Given the description of an element on the screen output the (x, y) to click on. 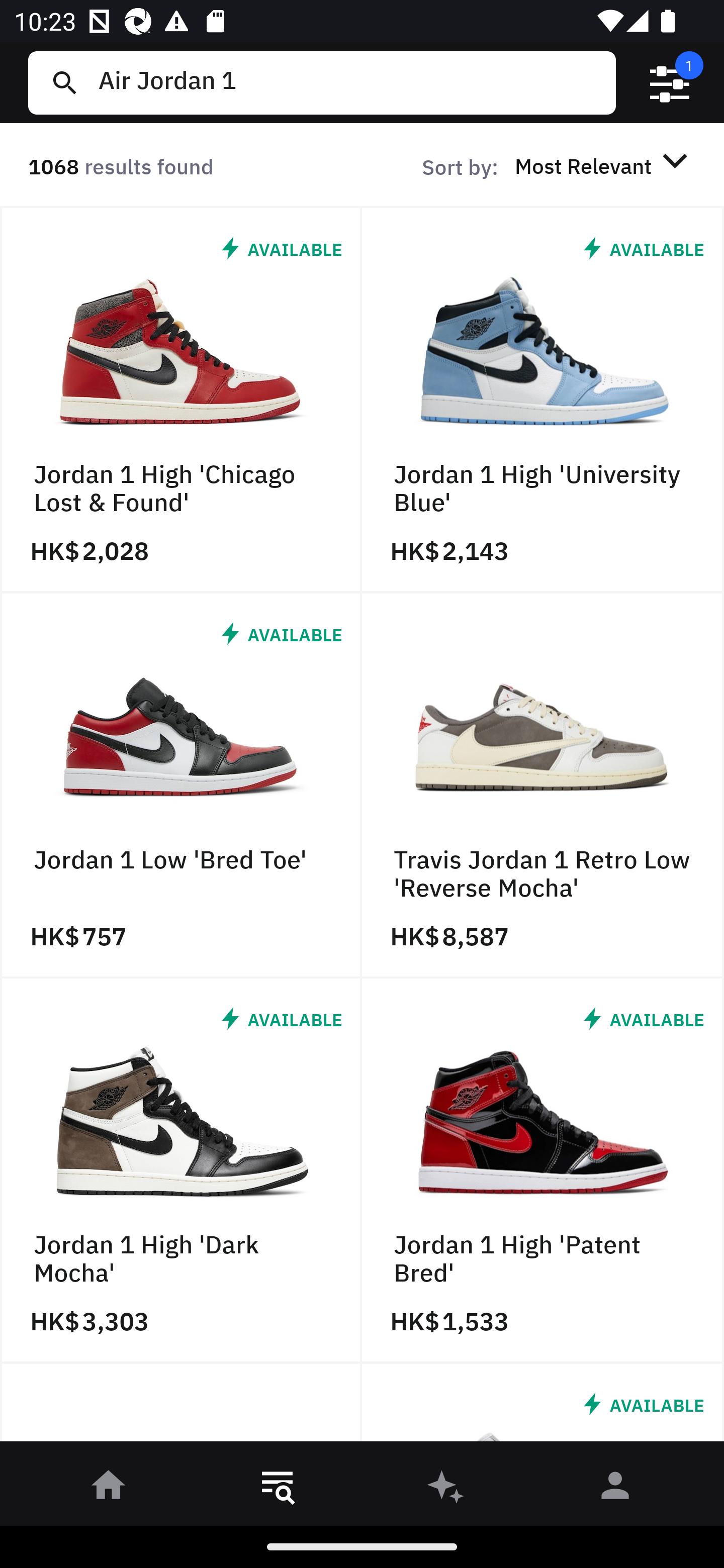
Air Jordan 1 (349, 82)
 (669, 82)
Most Relevant  (604, 165)
 AVAILABLE Jordan 1 Low 'Bred Toe' HK$ 757 (181, 785)
 AVAILABLE Jordan 1 High 'Dark Mocha' HK$ 3,303 (181, 1171)
 AVAILABLE Jordan 1 High 'Patent Bred' HK$ 1,533 (543, 1171)
󰋜 (108, 1488)
󱎸 (277, 1488)
󰫢 (446, 1488)
󰀄 (615, 1488)
